Given the description of an element on the screen output the (x, y) to click on. 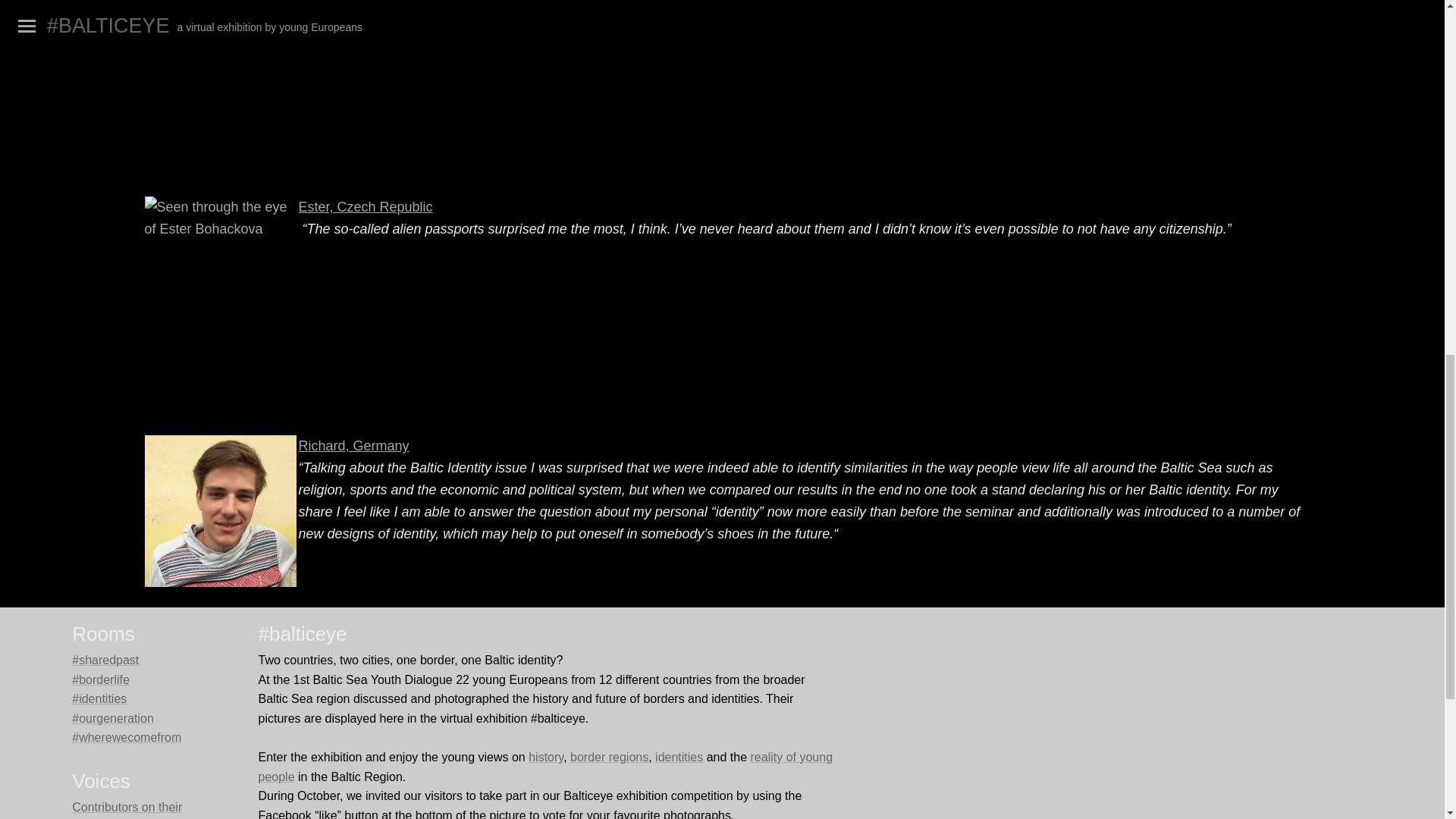
Richard, Germany (353, 445)
Ester, Czech Republic (365, 206)
reality of young people (544, 766)
Contributors on their lessons learned (126, 809)
history (545, 757)
identities (679, 757)
border regions (608, 757)
